Given the description of an element on the screen output the (x, y) to click on. 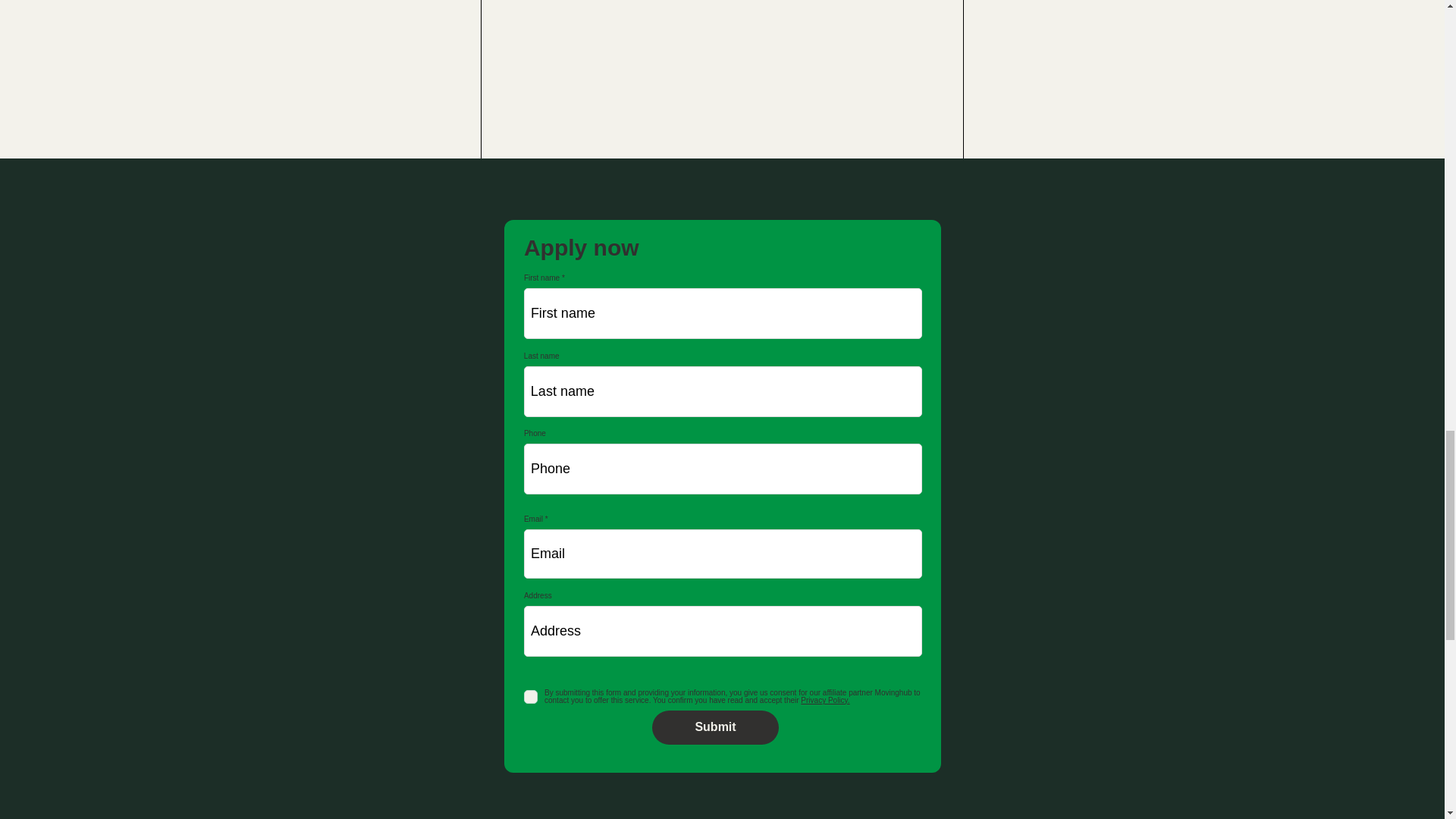
Submit (715, 727)
Privacy Policy. (824, 700)
